Given the description of an element on the screen output the (x, y) to click on. 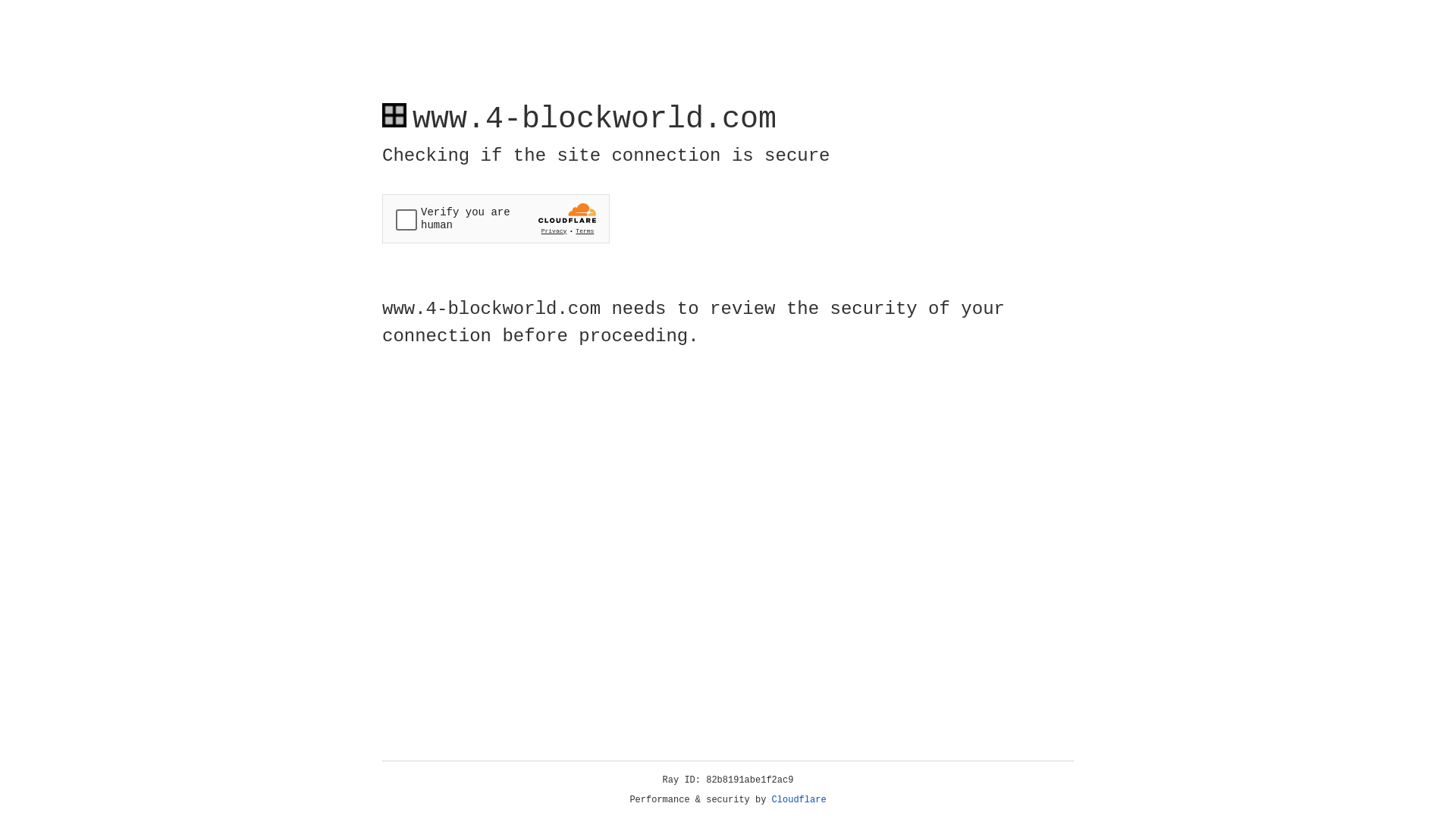
Widget containing a Cloudflare security challenge Element type: hover (495, 218)
Cloudflare Element type: text (798, 799)
